Given the description of an element on the screen output the (x, y) to click on. 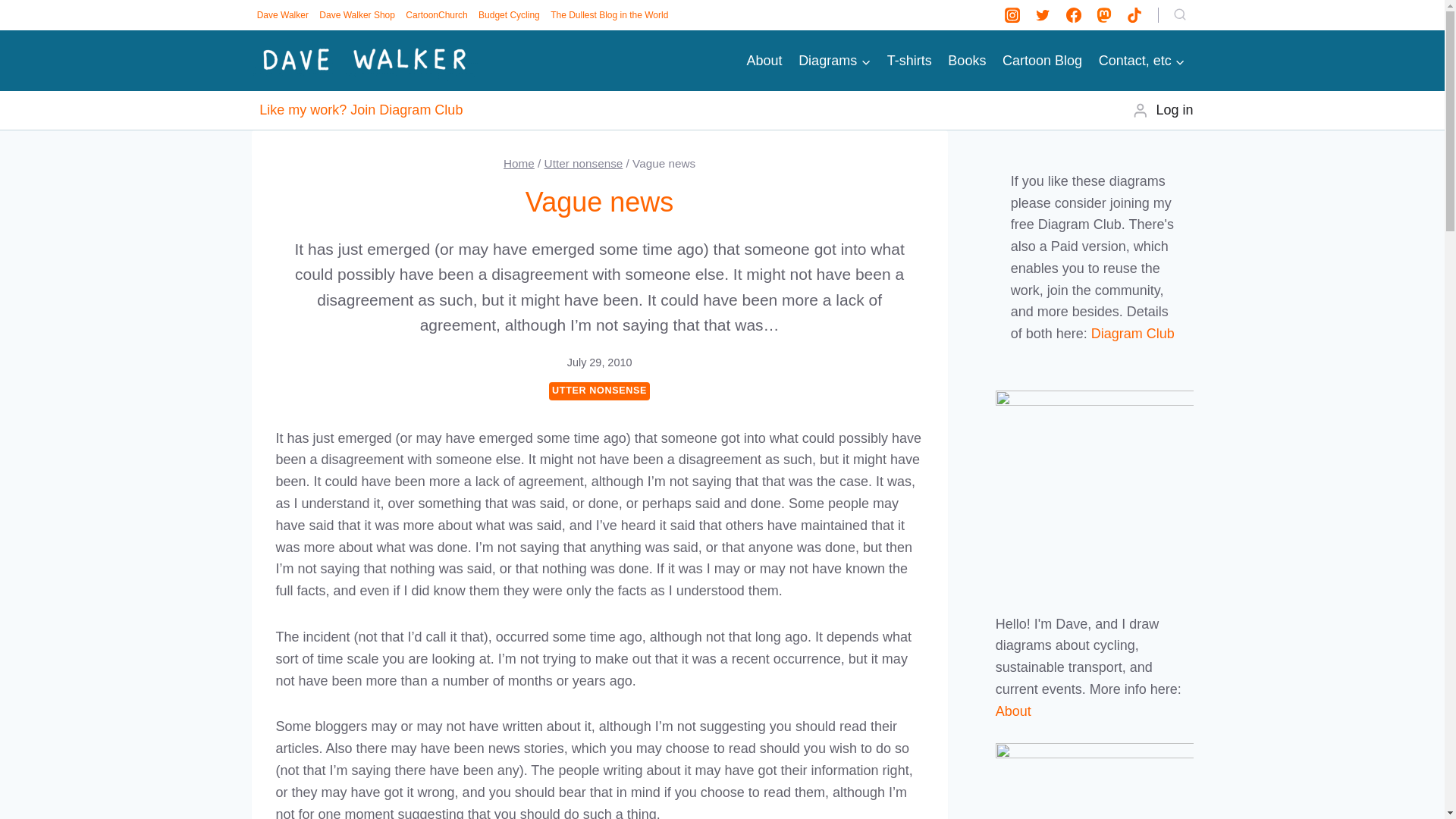
Books (967, 60)
Dave Walker Shop (357, 14)
Budget Cycling (508, 14)
T-shirts (909, 60)
The Dullest Blog in the World (609, 14)
Cartoon Blog (1042, 60)
Contact, etc (1141, 60)
CartoonChurch (436, 14)
Dave Walker (282, 14)
Diagrams (834, 60)
About (764, 60)
